Given the description of an element on the screen output the (x, y) to click on. 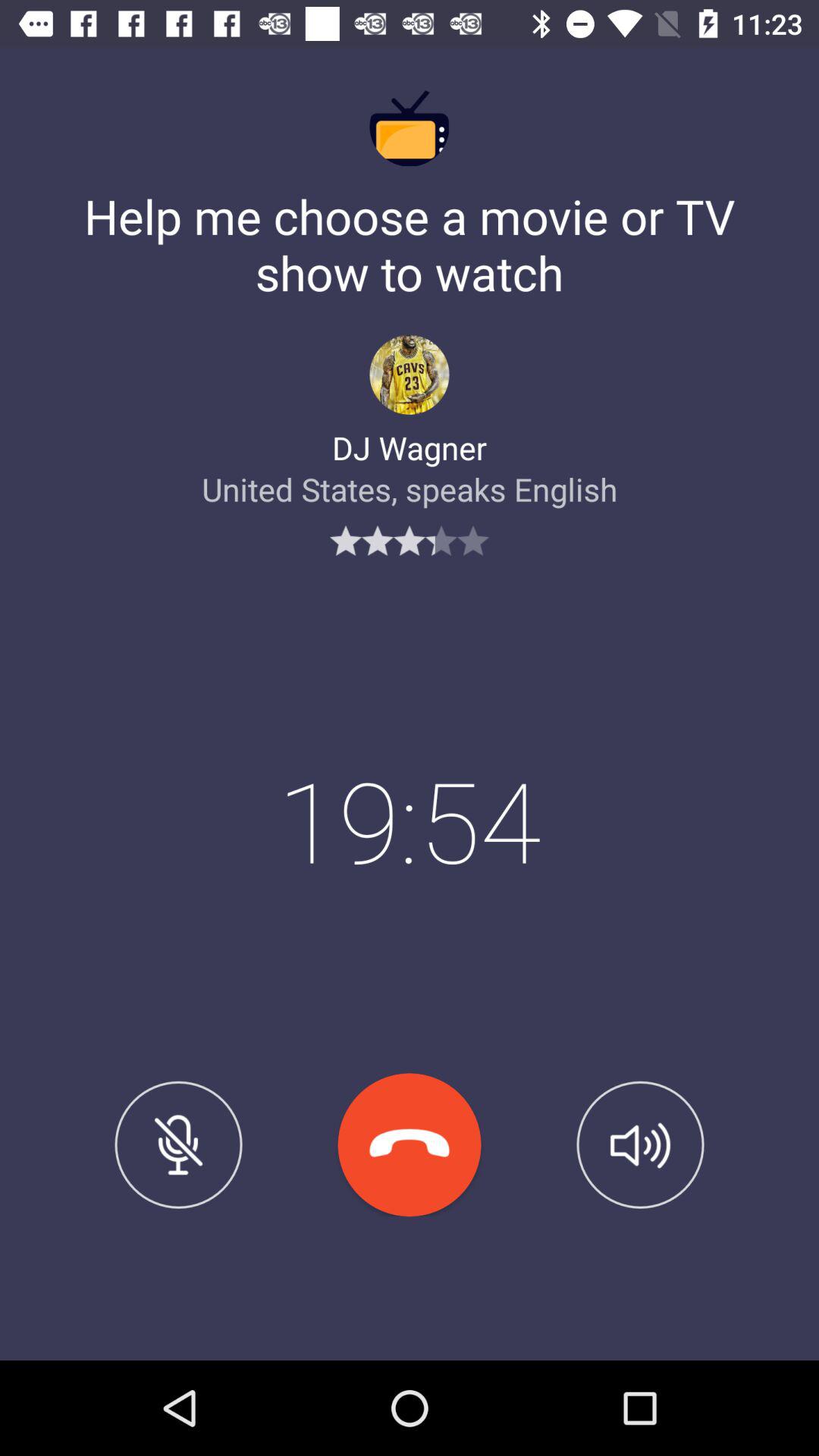
volume button (640, 1144)
